Given the description of an element on the screen output the (x, y) to click on. 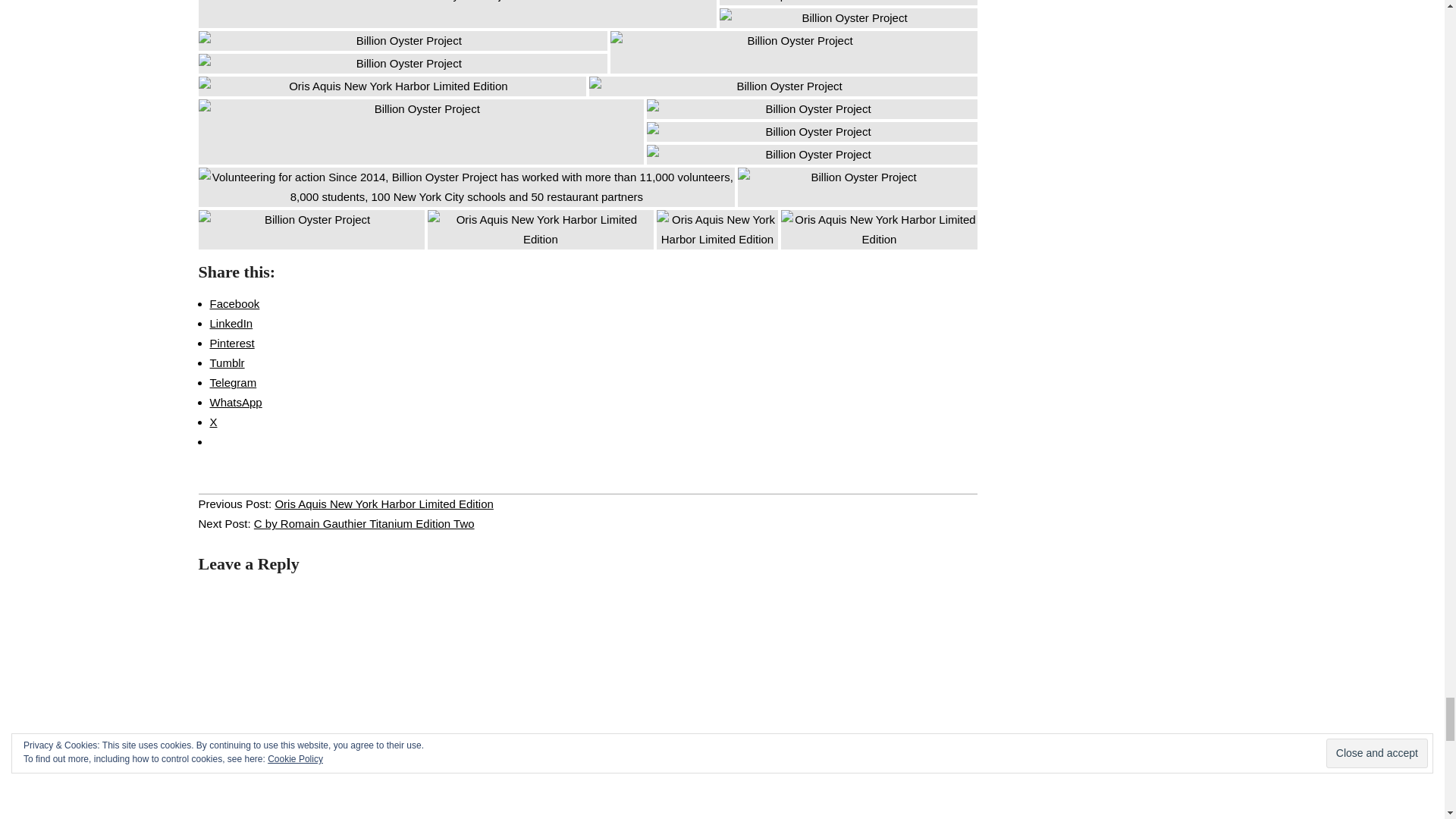
Click to share on LinkedIn (230, 323)
Click to share on WhatsApp (235, 401)
LinkedIn (230, 323)
Tumblr (226, 362)
Click to share on Pinterest (231, 342)
Click to share on Tumblr (226, 362)
Pinterest (231, 342)
Facebook (234, 303)
WhatsApp (235, 401)
